Given the description of an element on the screen output the (x, y) to click on. 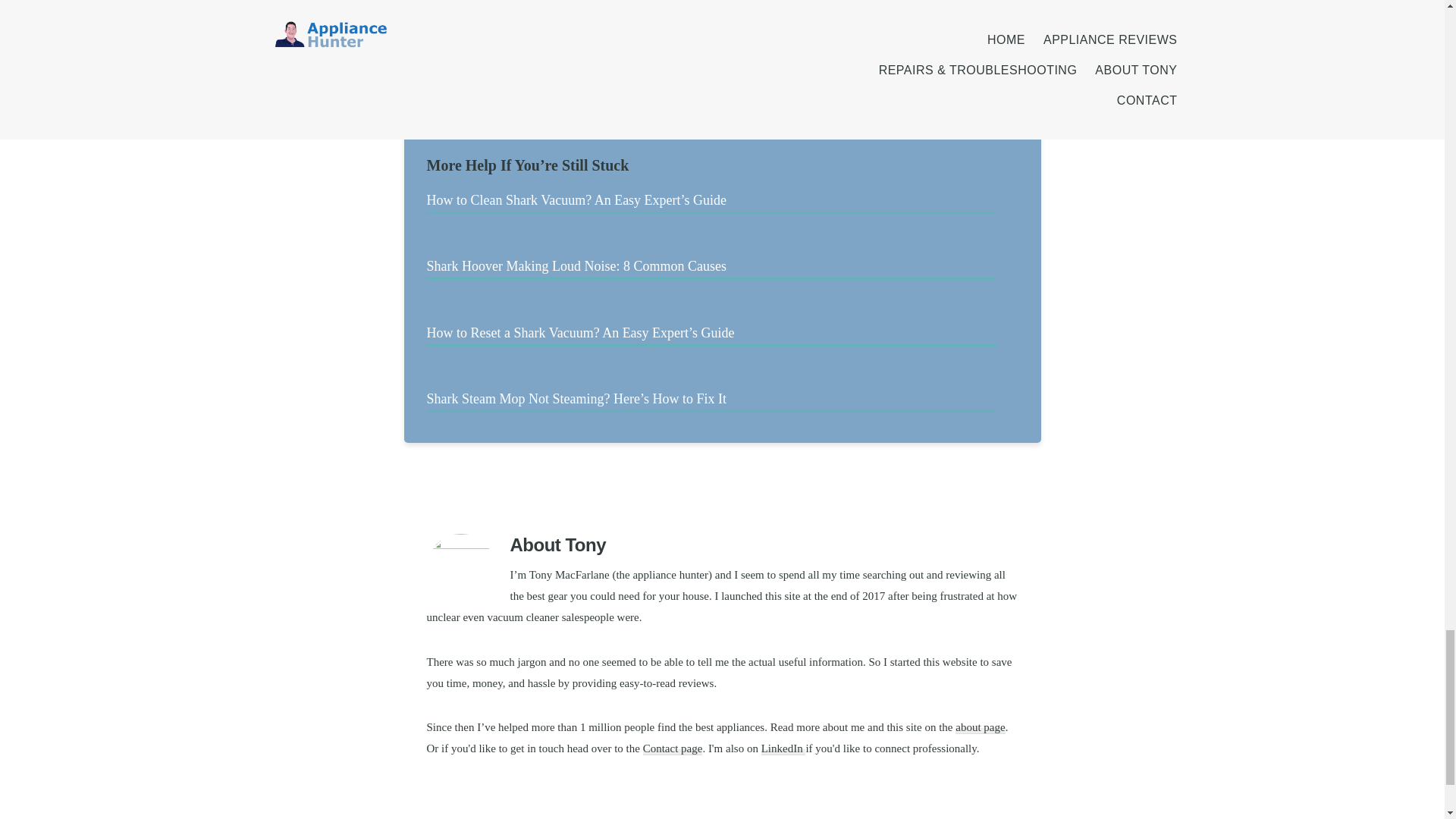
Contact page (673, 748)
LinkedIn (783, 748)
Shark Hoover Making Loud Noise: 8 Common Causes (710, 266)
about page (979, 727)
